Given the description of an element on the screen output the (x, y) to click on. 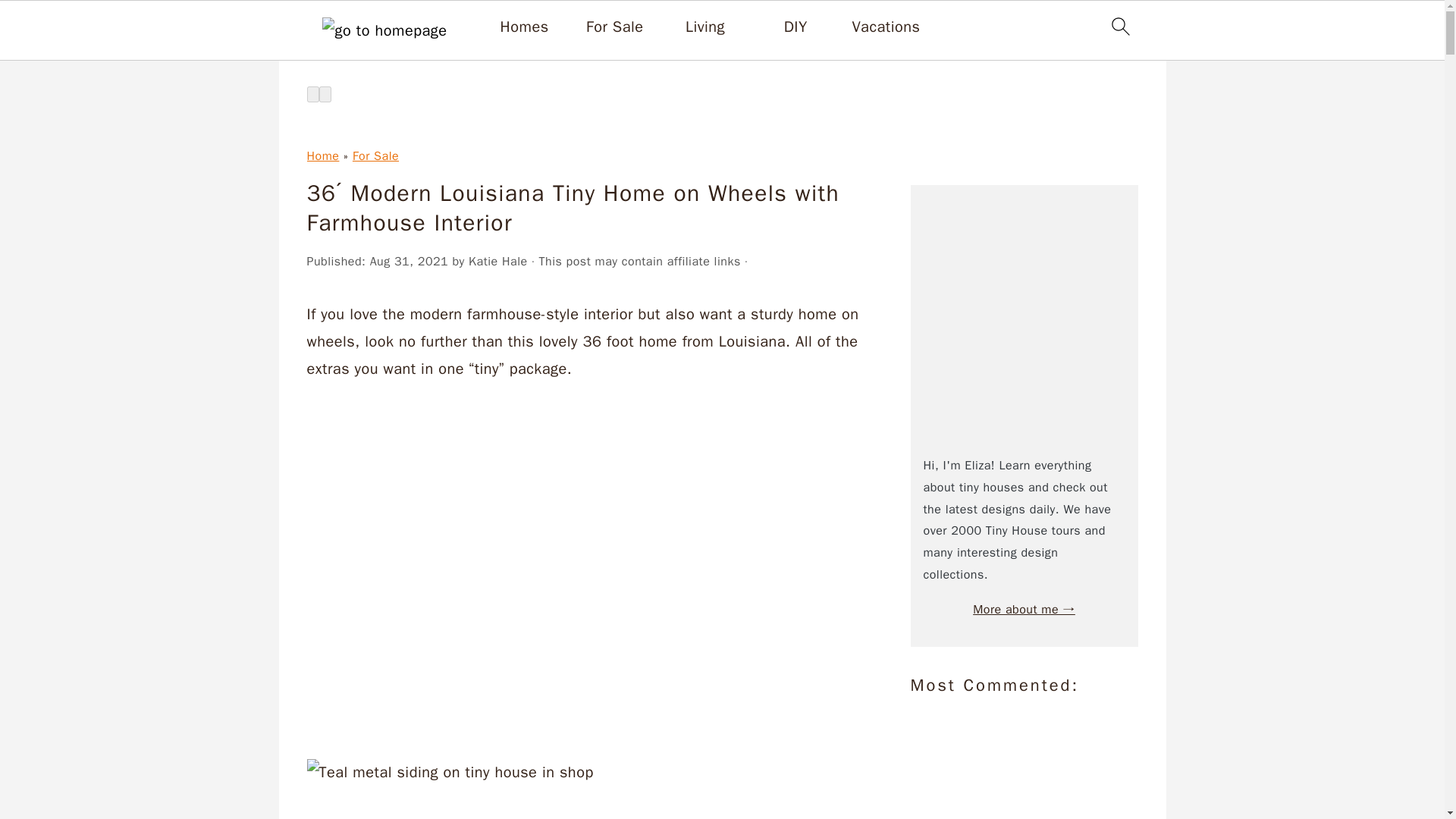
For Sale (614, 27)
Homes (524, 27)
Vacations (885, 27)
Living (705, 27)
search icon (1119, 26)
DIY (796, 27)
